Given the description of an element on the screen output the (x, y) to click on. 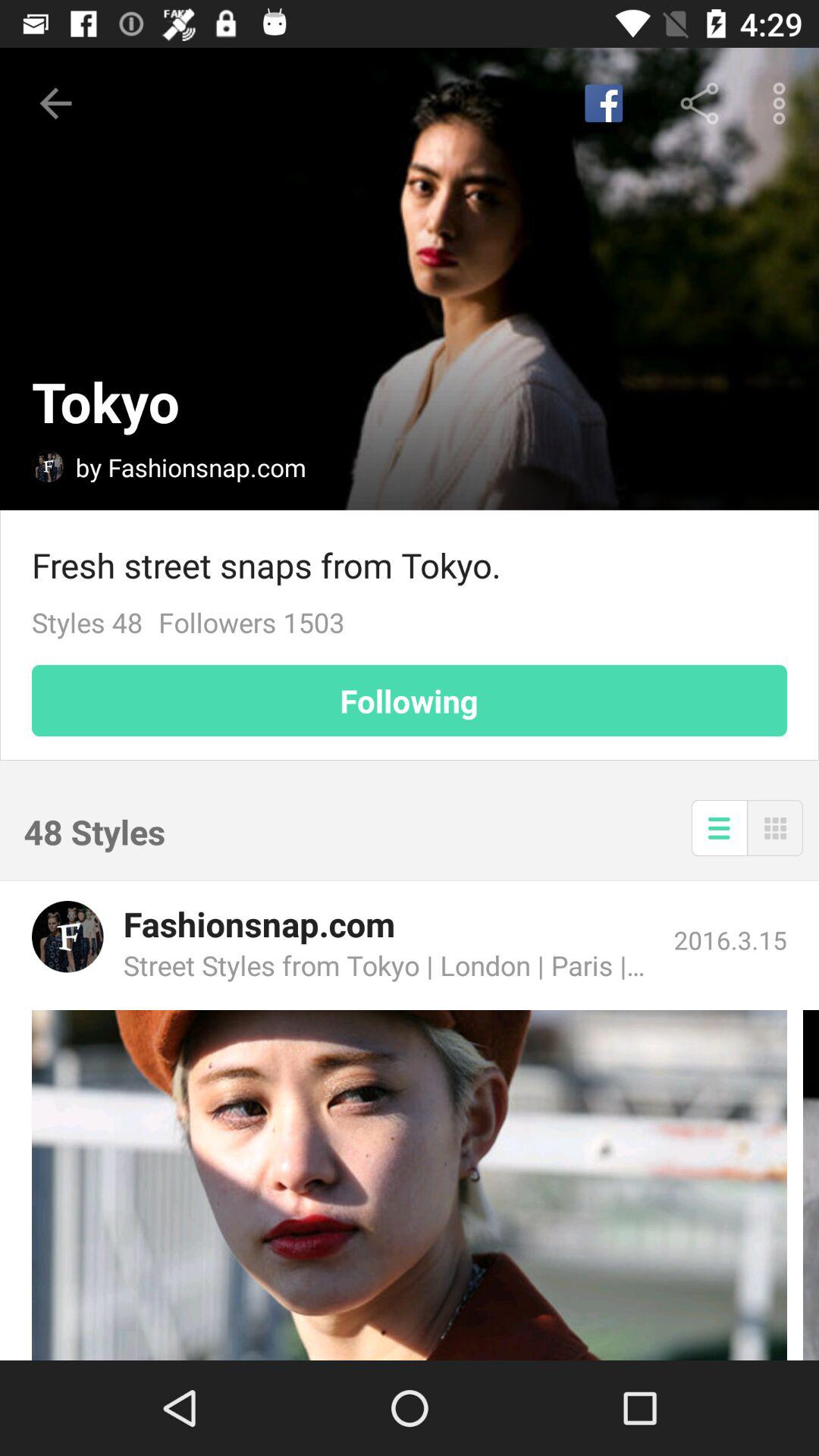
information (718, 827)
